Given the description of an element on the screen output the (x, y) to click on. 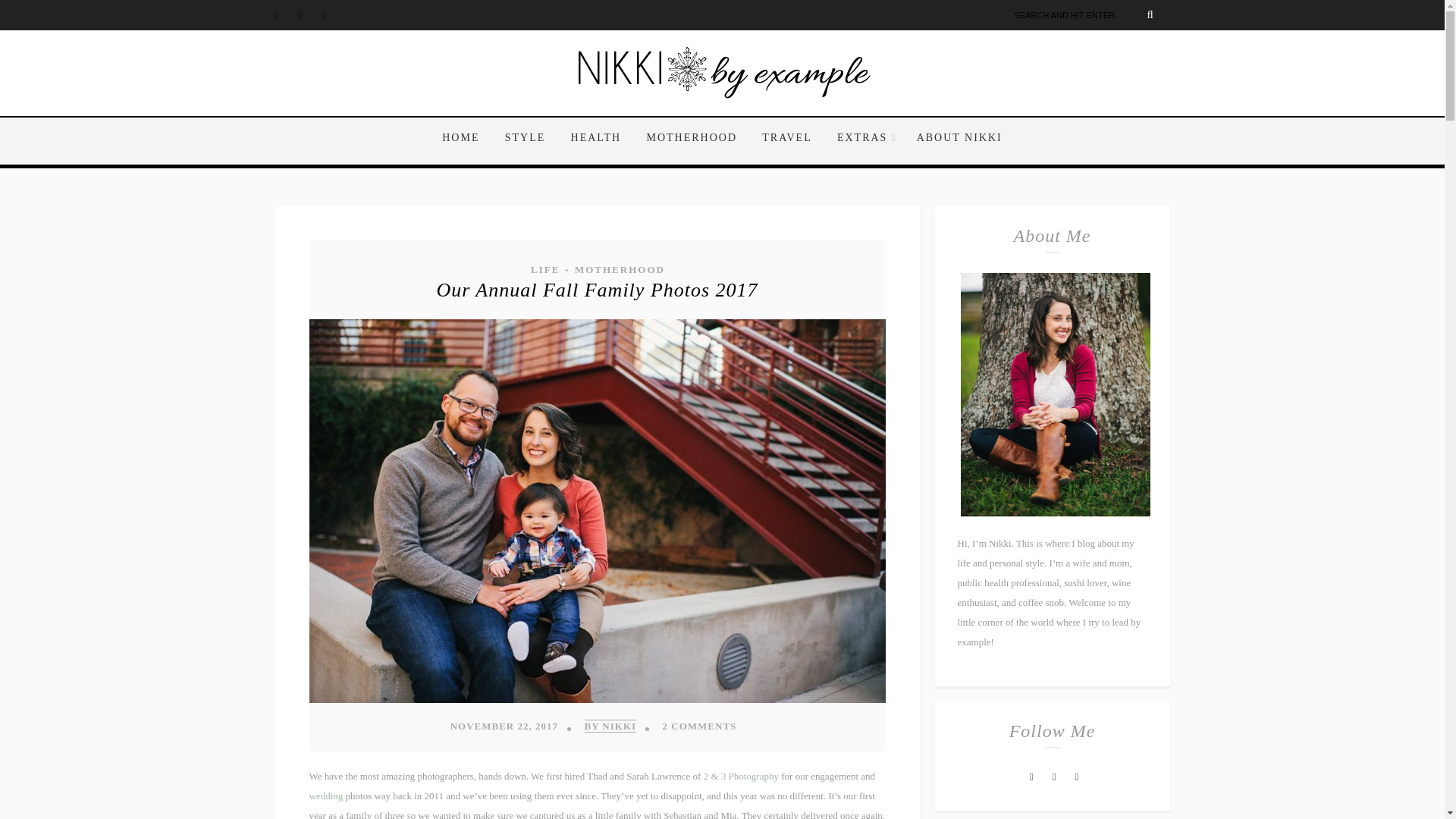
STYLE (525, 138)
MOTHERHOOD (618, 269)
Permanent (596, 290)
ABOUT NIKKI (954, 138)
Search and hit enter... (1088, 15)
LIFE (544, 269)
TRAVEL (786, 138)
MOTHERHOOD (691, 138)
HEALTH (596, 138)
HOME (466, 138)
EXTRAS (863, 138)
